Given the description of an element on the screen output the (x, y) to click on. 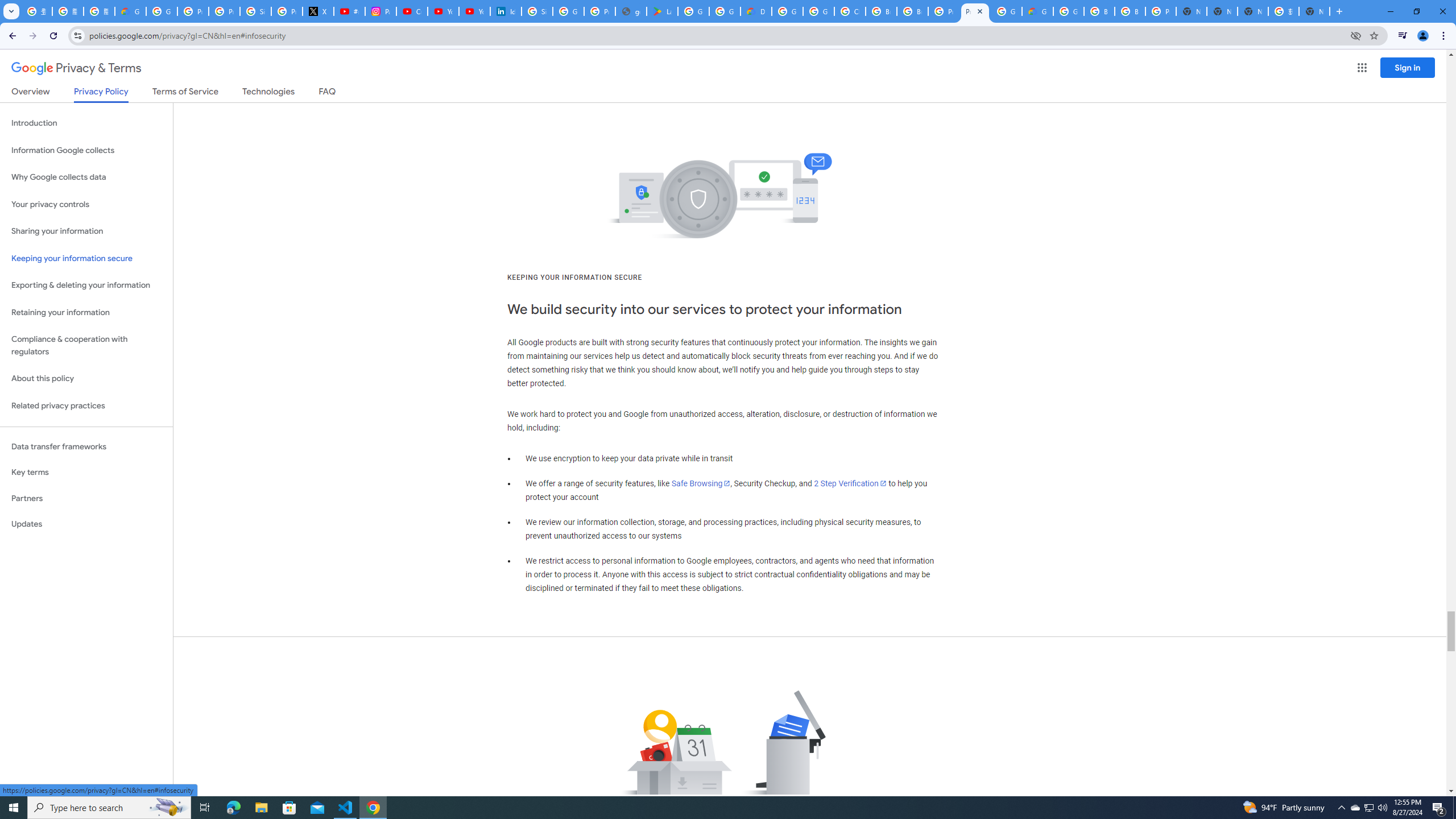
X (318, 11)
Related privacy practices (86, 405)
Sign in - Google Accounts (536, 11)
Google Cloud Estimate Summary (1037, 11)
New Tab (1314, 11)
